Given the description of an element on the screen output the (x, y) to click on. 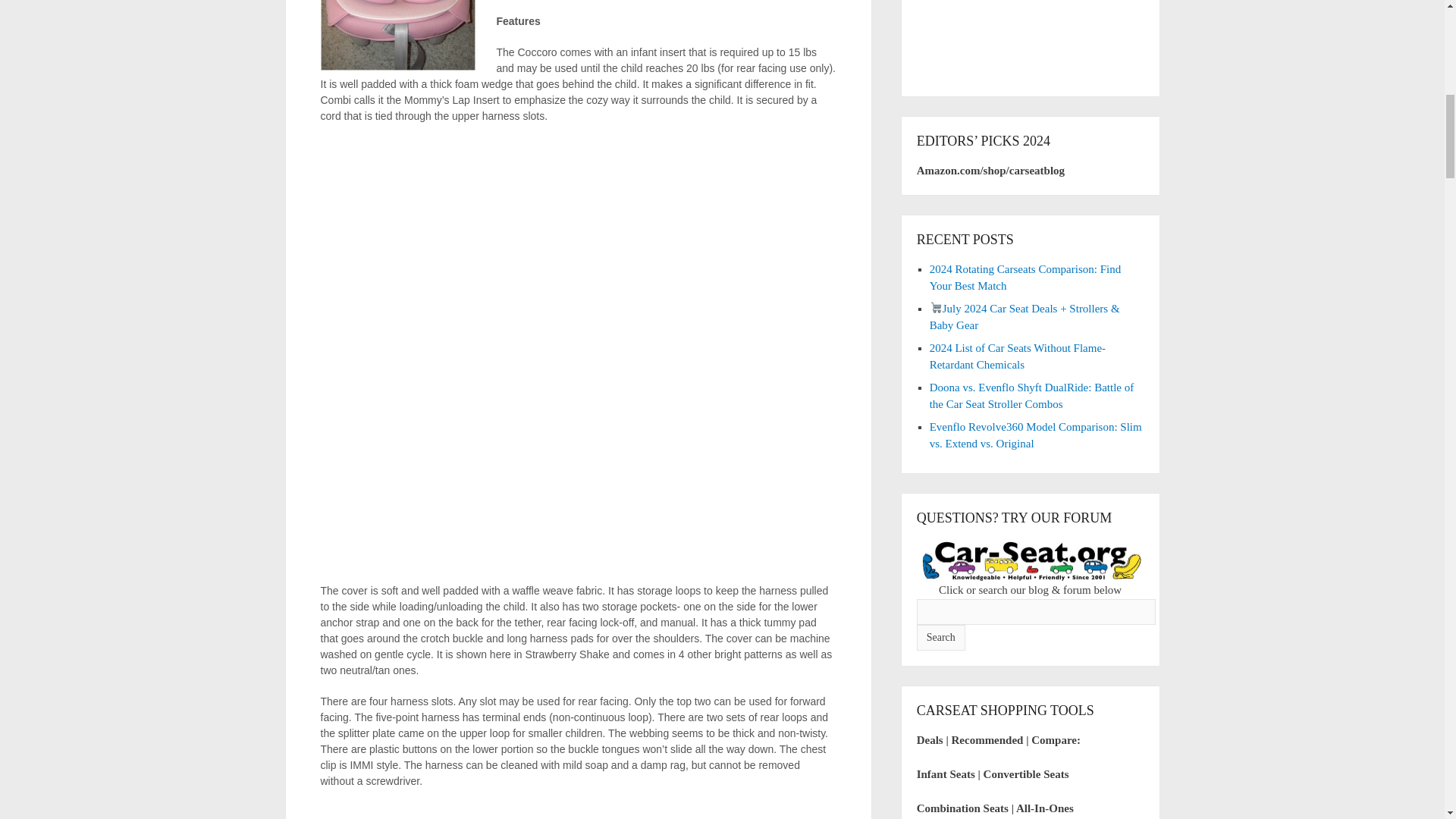
Search (941, 637)
